Given the description of an element on the screen output the (x, y) to click on. 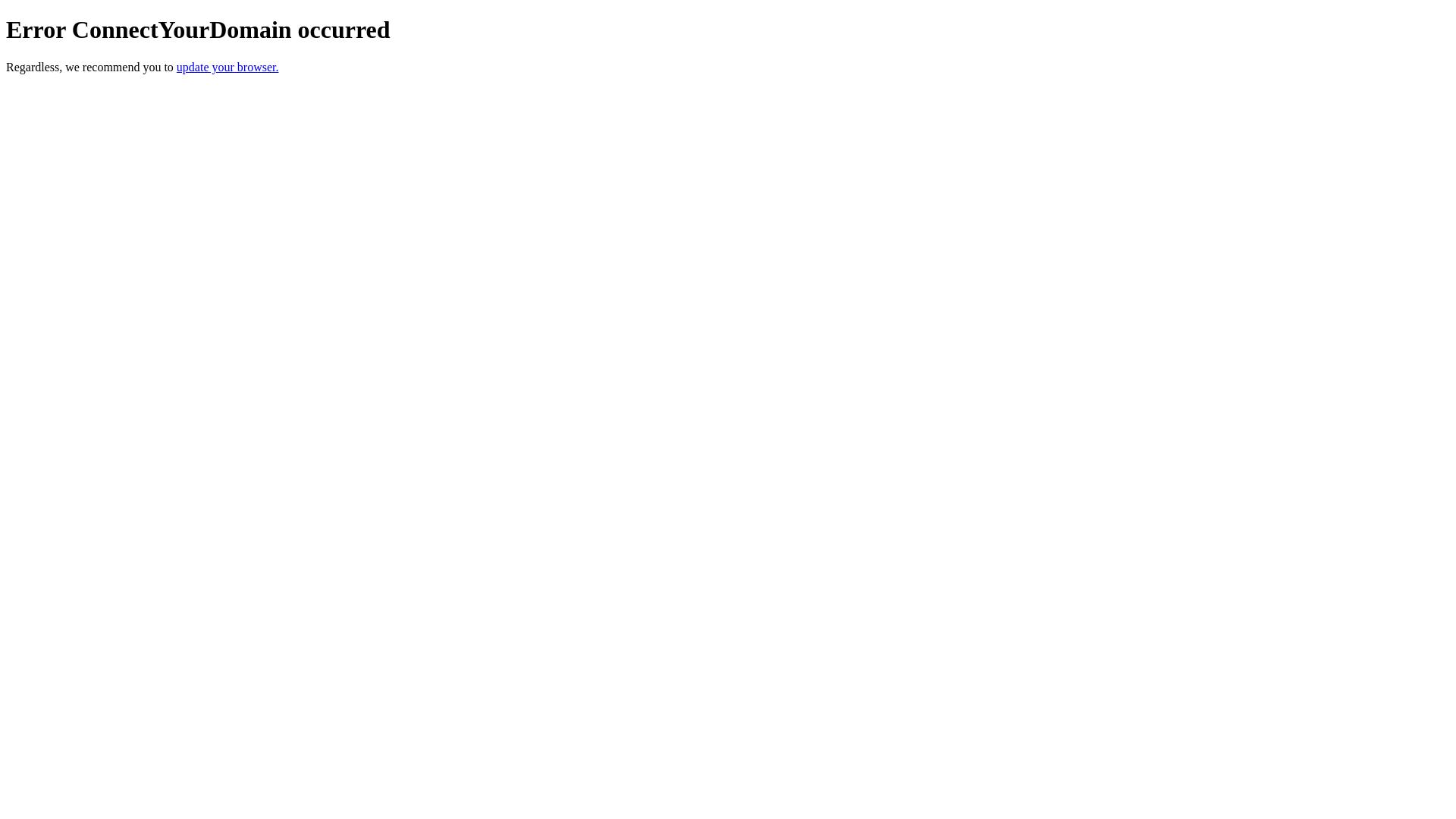
update your browser. Element type: text (227, 66)
